Given the description of an element on the screen output the (x, y) to click on. 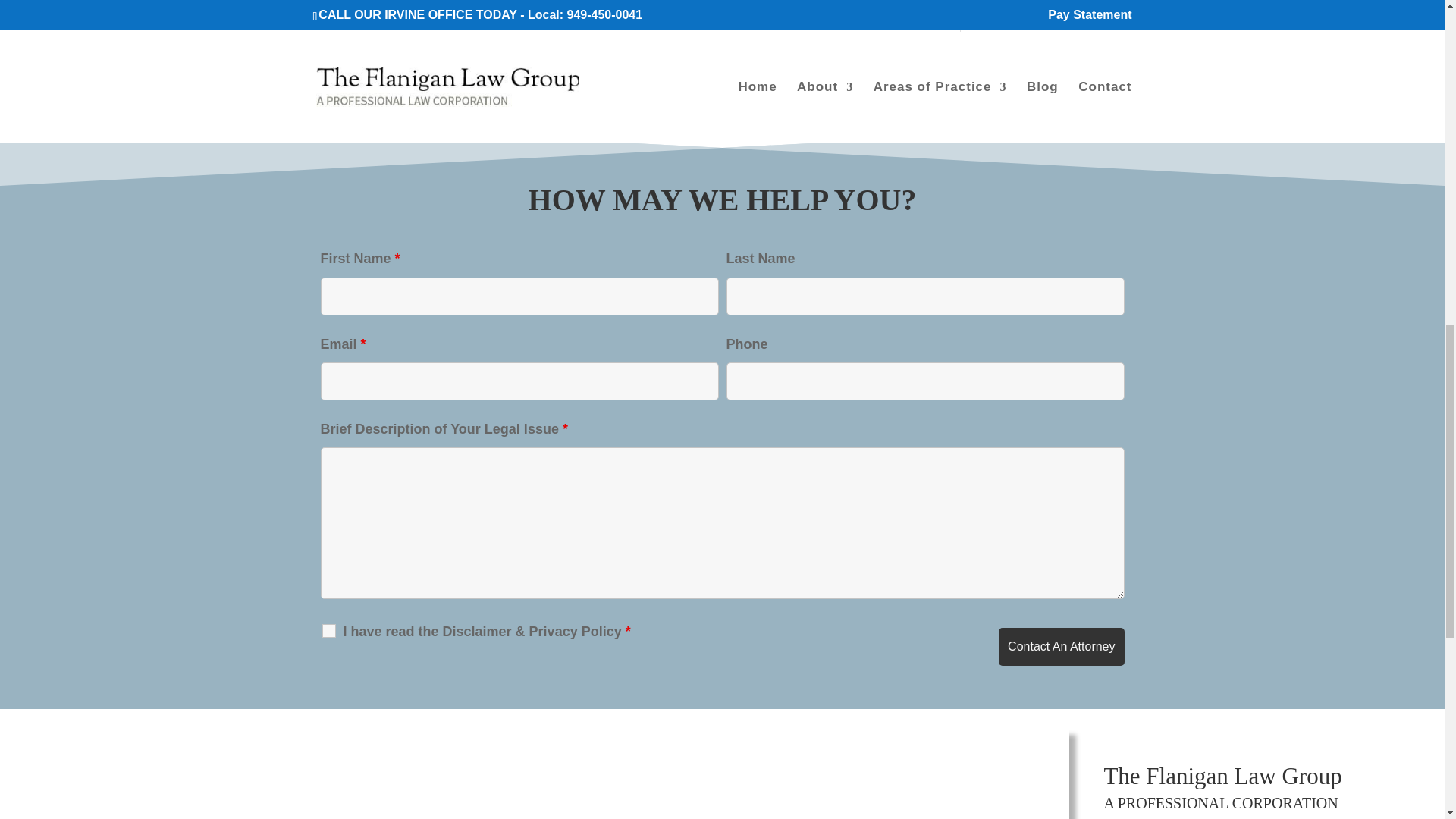
Contact An Attorney (1061, 646)
